Given the description of an element on the screen output the (x, y) to click on. 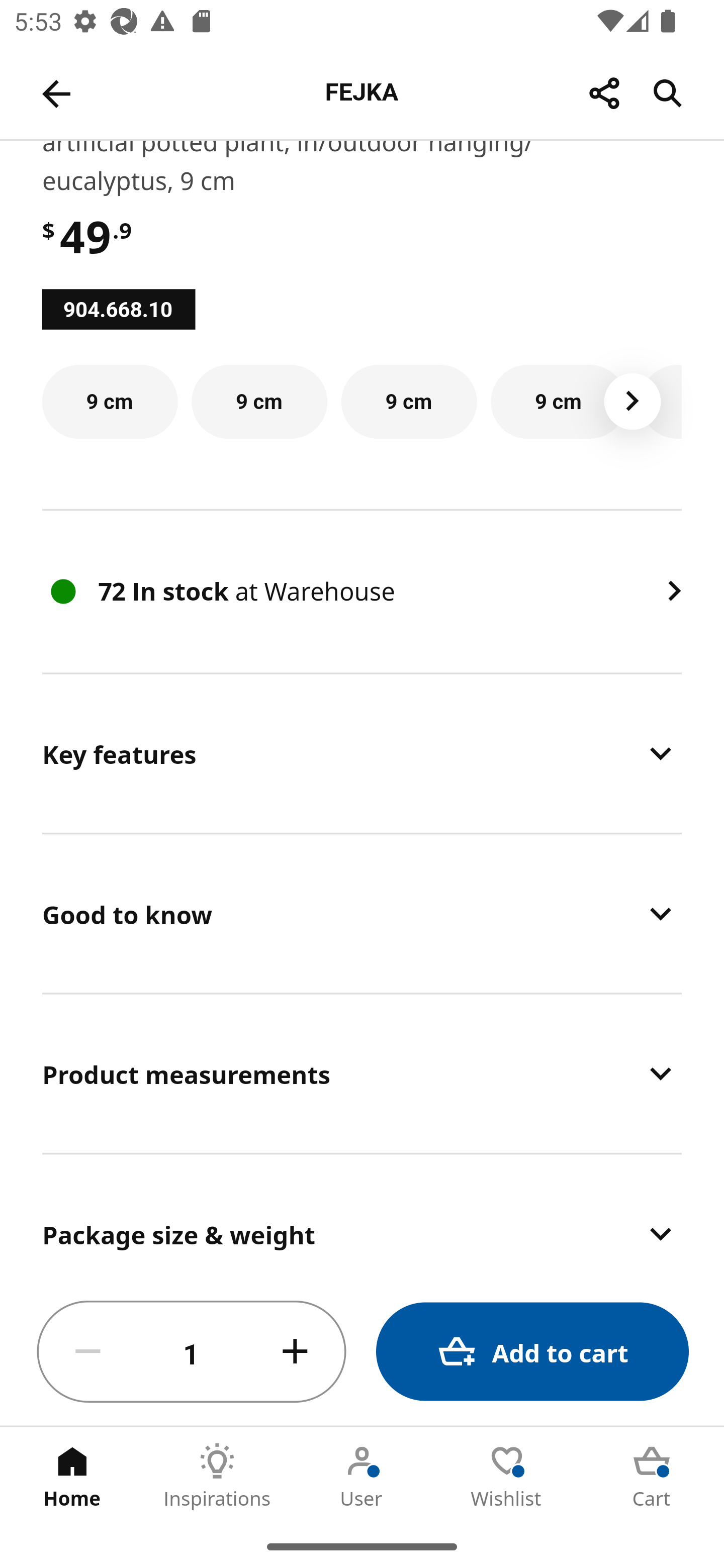
9 cm (109, 402)
9 cm (259, 402)
9 cm (409, 402)
9 cm (558, 402)
72 In stock at Warehouse (361, 591)
Key features (361, 753)
Good to know (361, 912)
Product measurements (361, 1072)
Package size & weight (361, 1217)
Add to cart (531, 1352)
1 (191, 1352)
Home
Tab 1 of 5 (72, 1476)
Inspirations
Tab 2 of 5 (216, 1476)
User
Tab 3 of 5 (361, 1476)
